Given the description of an element on the screen output the (x, y) to click on. 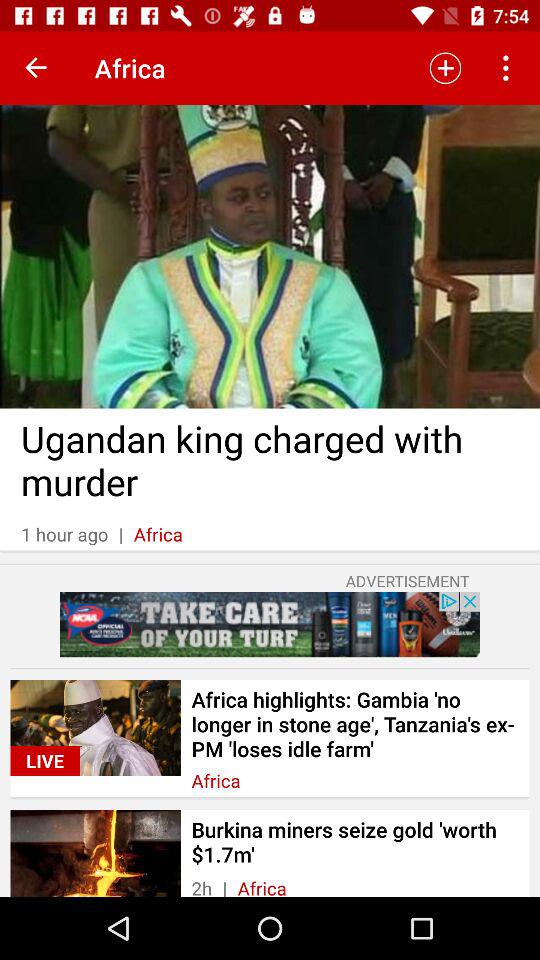
click advertisement banner (270, 624)
